Given the description of an element on the screen output the (x, y) to click on. 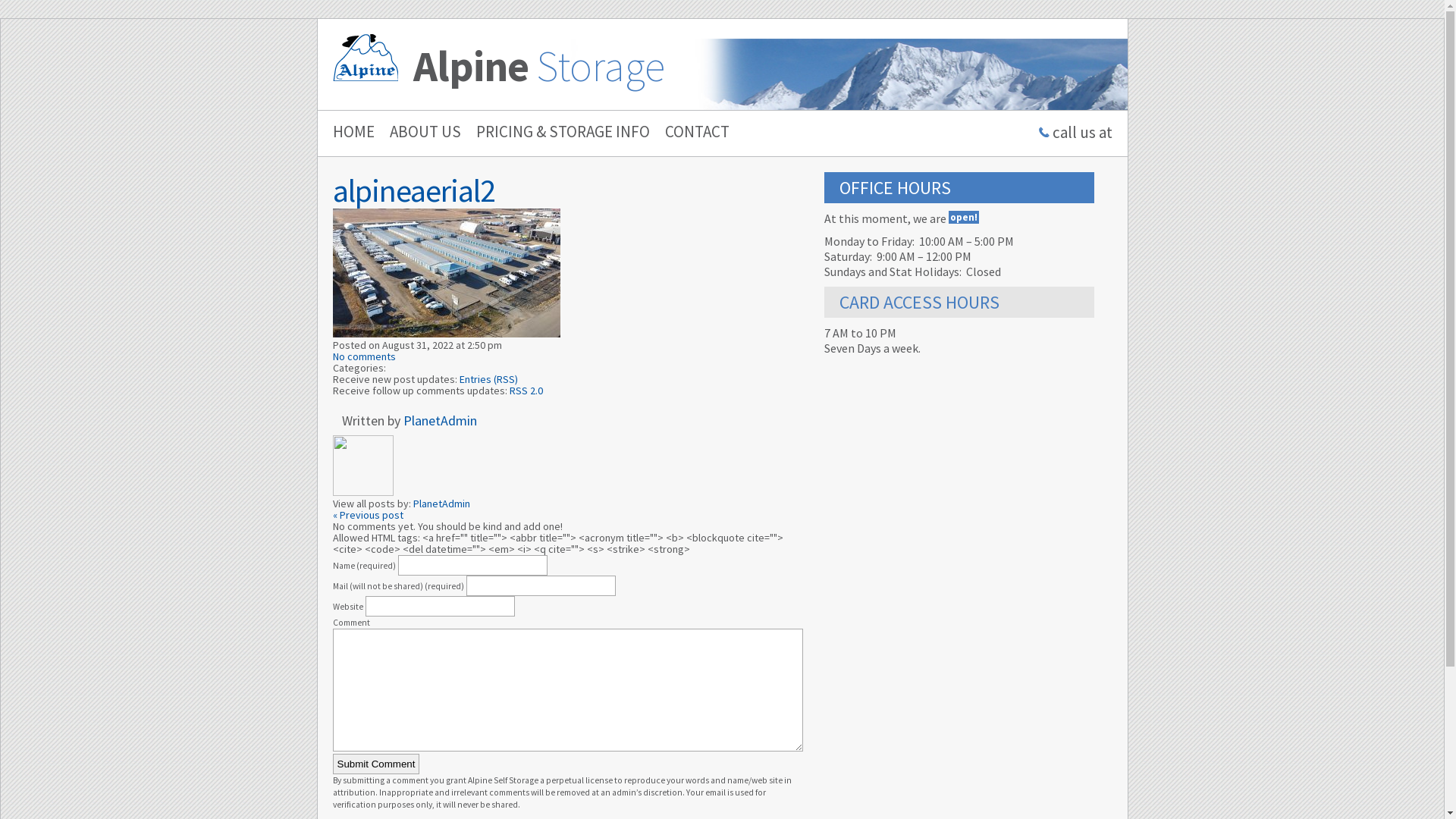
PRICING & STORAGE INFO Element type: text (555, 131)
ABOUT US Element type: text (417, 131)
CONTACT Element type: text (688, 131)
RSS 2.0 Element type: text (525, 390)
PlanetAdmin Element type: text (440, 503)
Alpine Storage homepage Element type: hover (364, 57)
alpineaerial2 Element type: text (413, 190)
HOME Element type: text (344, 131)
No comments Element type: text (363, 356)
PlanetAdmin Element type: text (439, 420)
Entries (RSS) Element type: text (488, 378)
Submit Comment Element type: text (375, 763)
